Given the description of an element on the screen output the (x, y) to click on. 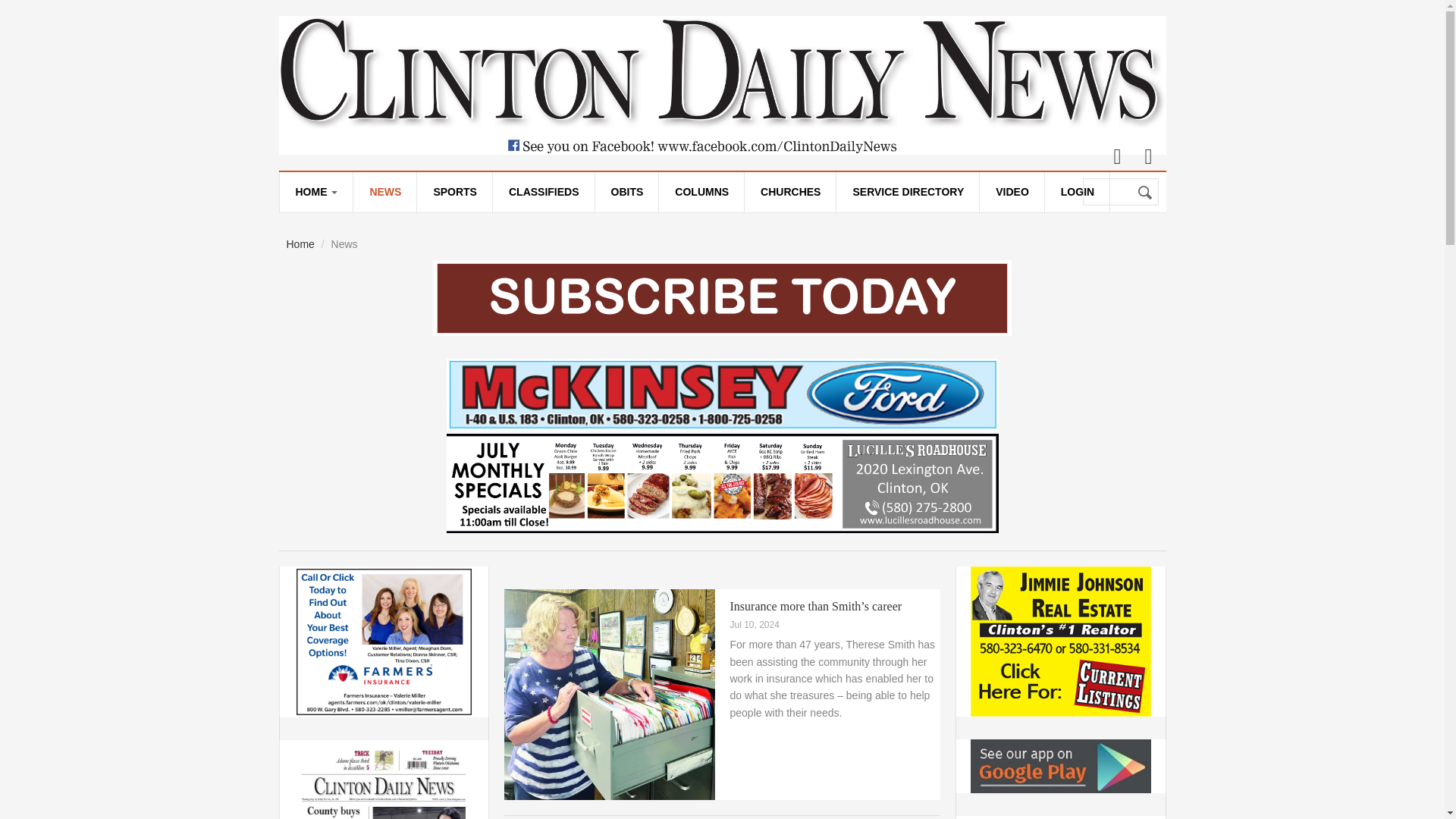
Sports (454, 191)
NEWS (384, 191)
OBITS (627, 191)
Home (722, 84)
CLASSIFIEDS (543, 191)
Forms (354, 237)
HOME (315, 191)
COLUMNS (701, 191)
Enter the terms you wish to search for. (1120, 191)
Churches (789, 191)
CHURCHES (789, 191)
Service Directory (906, 191)
Search (1144, 192)
Home (300, 244)
